Given the description of an element on the screen output the (x, y) to click on. 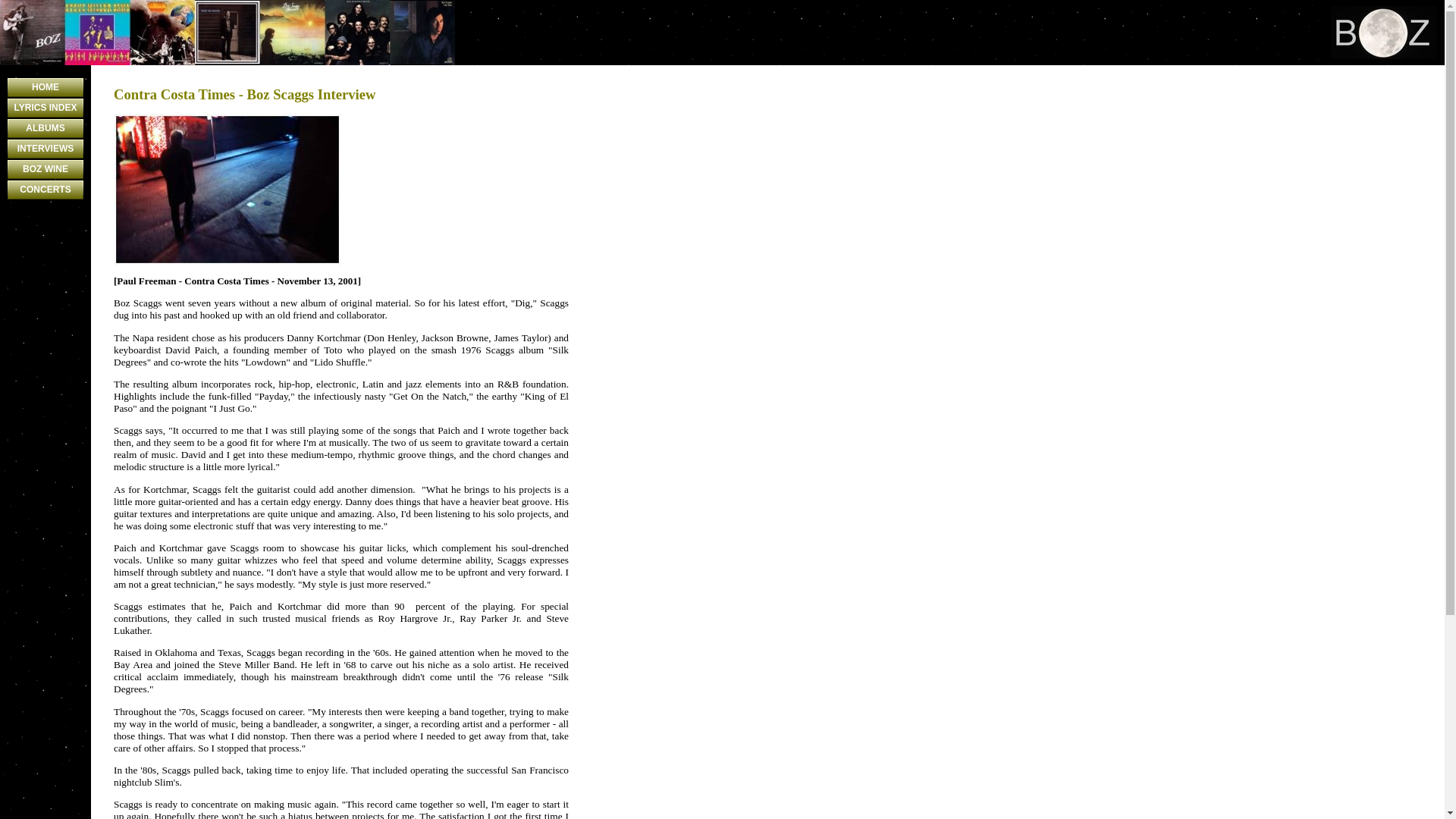
INTERVIEWS (44, 148)
ALBUMS (44, 128)
LYRICS INDEX (44, 107)
HOME (44, 87)
